Given the description of an element on the screen output the (x, y) to click on. 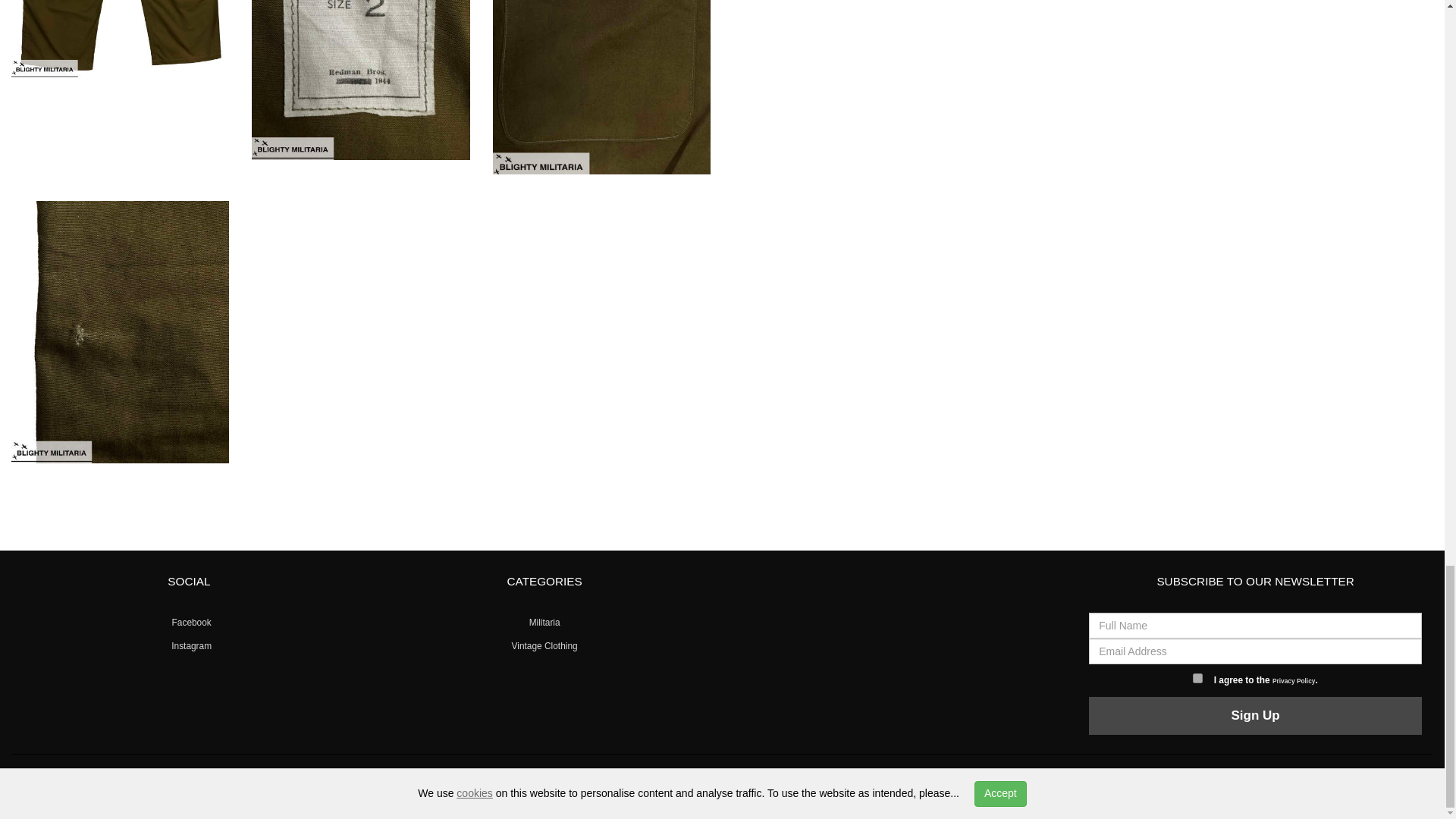
Privacy Policy (1293, 680)
Sign Up (1255, 715)
Vintage Clothing (545, 645)
Privacy (665, 779)
Militaria (544, 622)
on (1197, 678)
  Facebook (189, 622)
Militaria (157, 779)
Terms (691, 779)
  Instagram (189, 645)
